Given the description of an element on the screen output the (x, y) to click on. 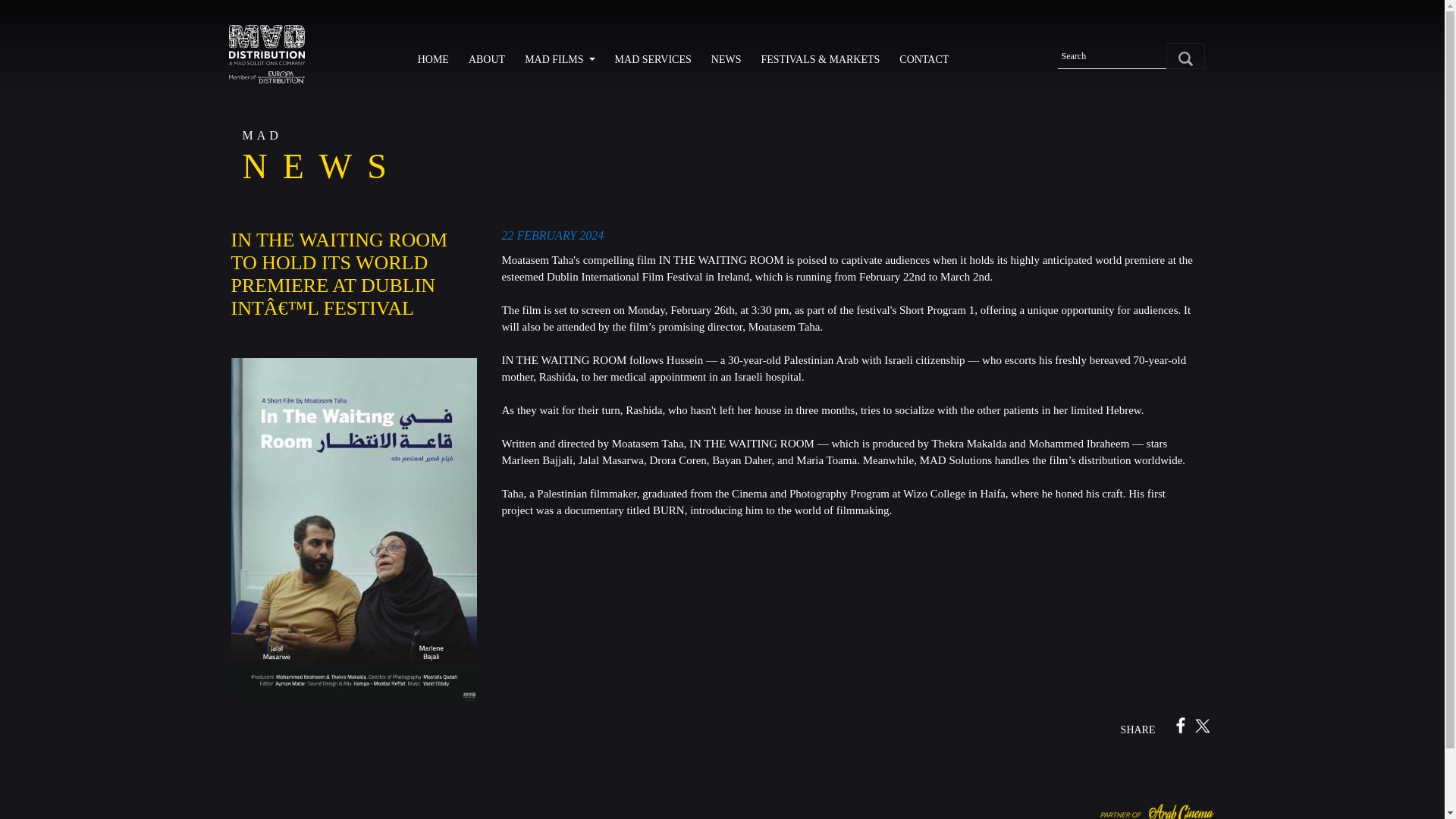
MAD SERVICES (656, 58)
ABOUT (490, 58)
HOME (437, 58)
CONTACT (927, 58)
NEWS (730, 58)
MAD FILMS (563, 58)
